Given the description of an element on the screen output the (x, y) to click on. 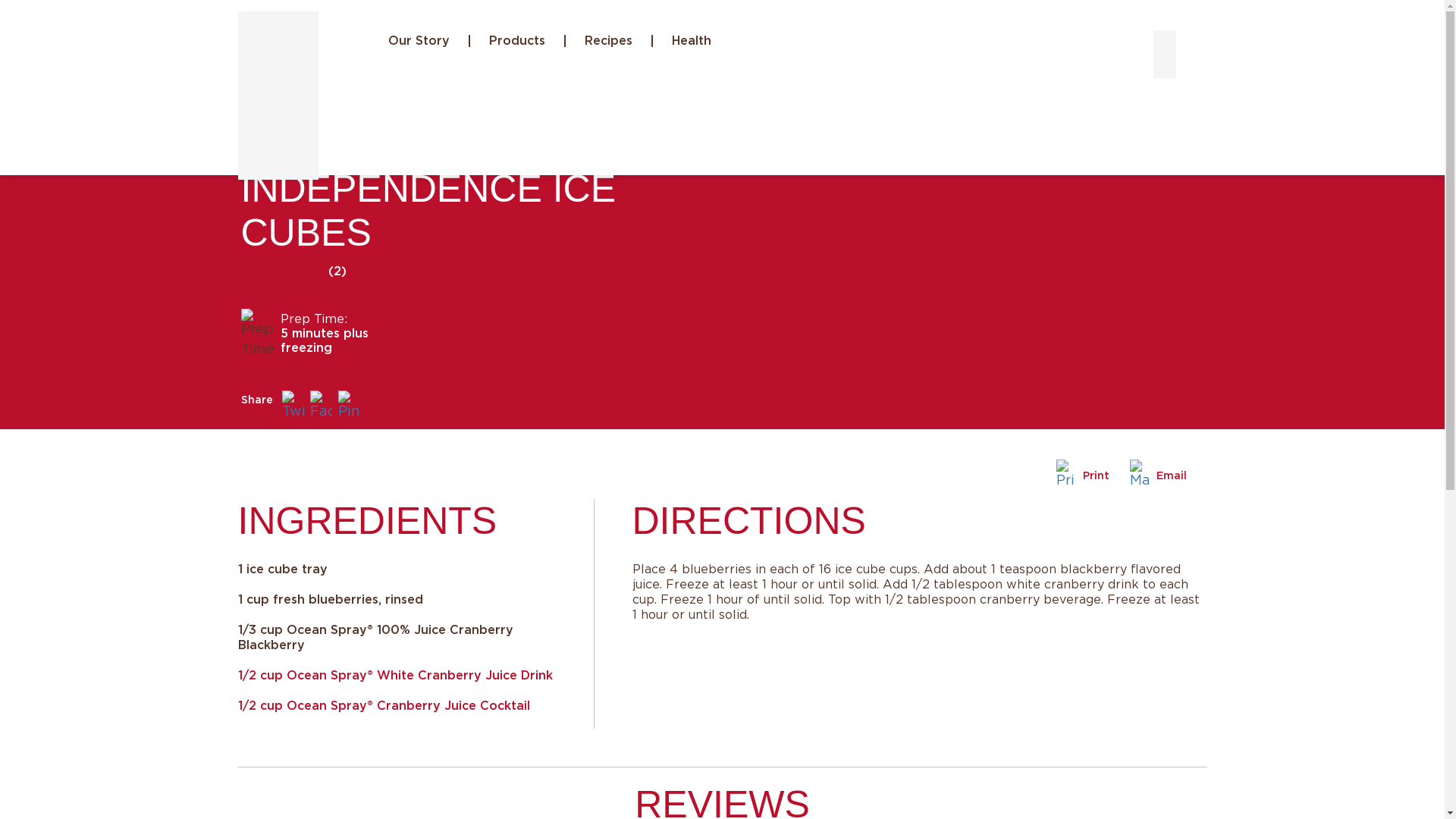
Recipes Element type: text (608, 40)
By Course Element type: text (373, 122)
Our Story Element type: text (418, 40)
Bebidas y cocteles Element type: text (466, 122)
Recipes Element type: text (310, 122)
Email Element type: text (1157, 475)
Home Element type: text (258, 122)
(2) Element type: text (342, 271)
Health Element type: text (690, 40)
Products Element type: text (517, 40)
Independence Ice Cubes Element type: text (307, 142)
Print Element type: text (1081, 475)
